Given the description of an element on the screen output the (x, y) to click on. 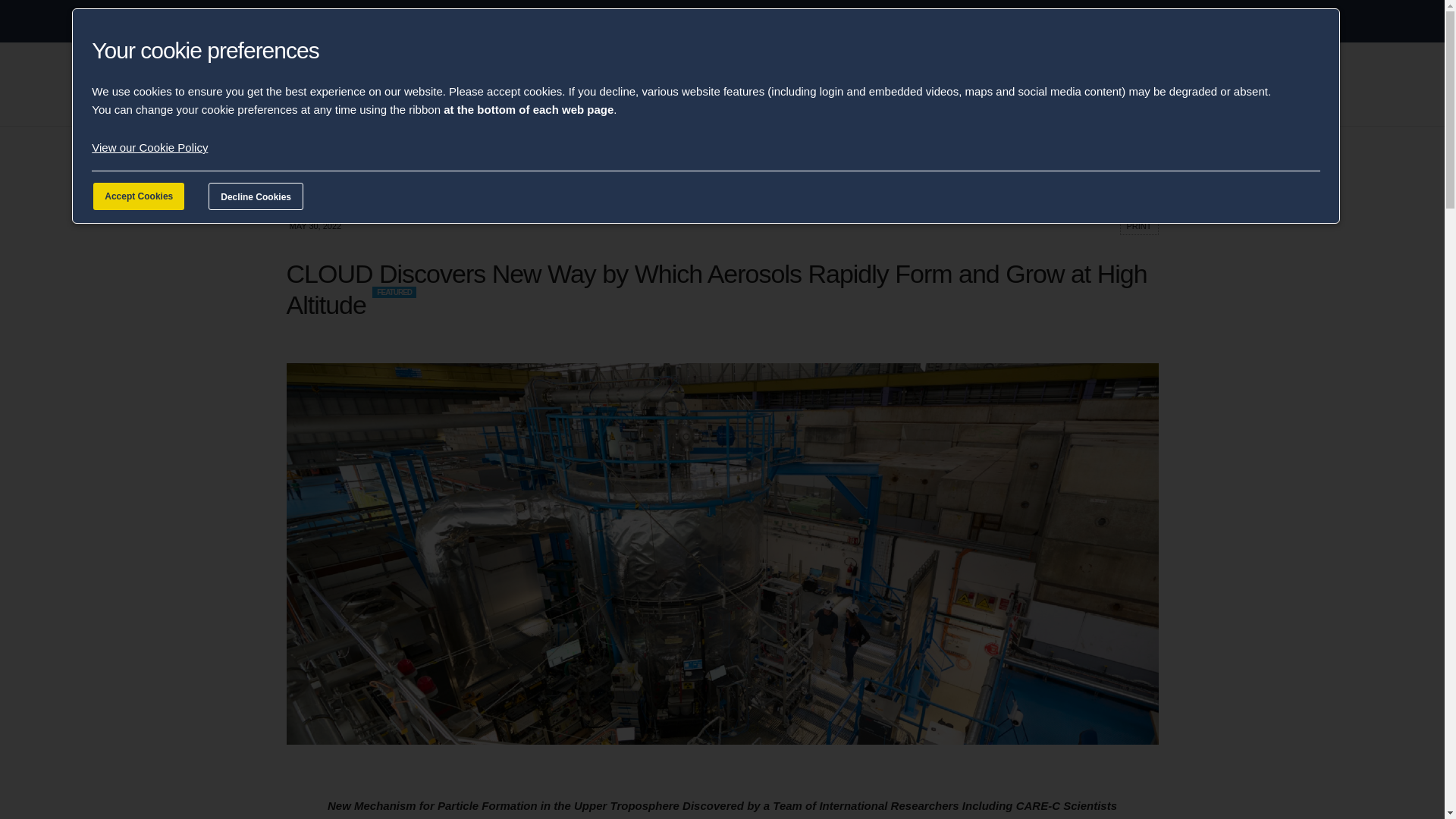
HR Excellence (764, 79)
ABOUT CyI (333, 21)
Search ... (1076, 79)
CyI in the News (678, 79)
Contact the Institute (932, 79)
Our People (841, 79)
The Cyprus Institute (392, 78)
Search ... (1076, 79)
